Given the description of an element on the screen output the (x, y) to click on. 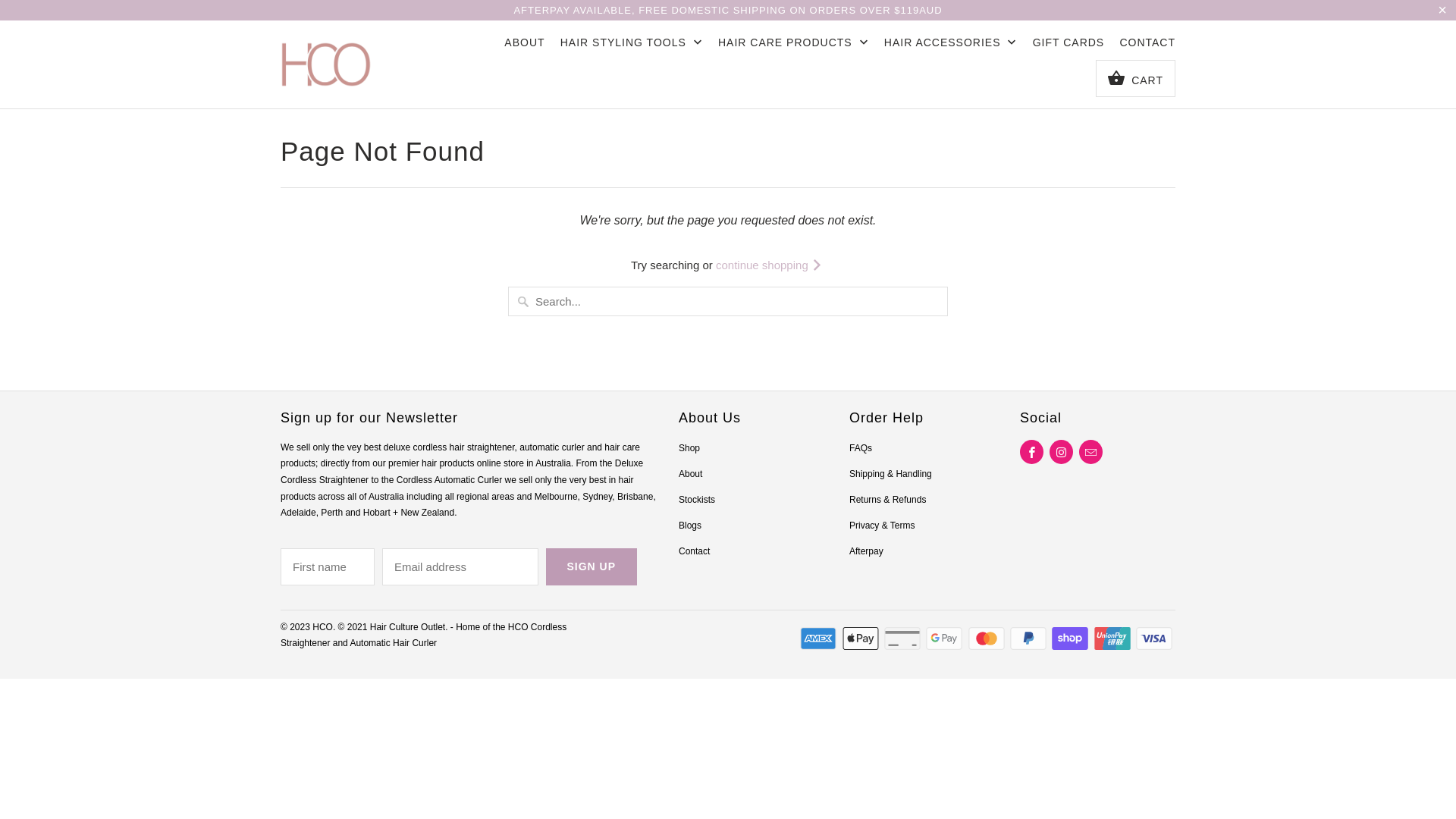
HCO Element type: text (322, 626)
CONTACT Element type: text (1147, 46)
Blogs Element type: text (689, 525)
CART Element type: text (1135, 78)
HCO on Facebook Element type: hover (1031, 451)
HCO Element type: hover (325, 64)
FAQs Element type: text (860, 447)
GIFT CARDS Element type: text (1068, 46)
Contact Element type: text (693, 551)
Privacy & Terms Element type: text (881, 525)
Shop Element type: text (688, 447)
Stockists Element type: text (696, 499)
HCO on Instagram Element type: hover (1061, 451)
Shipping & Handling Element type: text (890, 473)
Returns & Refunds Element type: text (887, 499)
About Element type: text (690, 473)
HAIR STYLING TOOLS Element type: text (631, 46)
continue shopping Element type: text (770, 264)
HAIR CARE PRODUCTS Element type: text (793, 46)
Afterpay Element type: text (866, 551)
ABOUT Element type: text (524, 46)
Sign Up Element type: text (591, 566)
Email HCO Element type: hover (1090, 451)
HAIR ACCESSORIES Element type: text (950, 46)
